Given the description of an element on the screen output the (x, y) to click on. 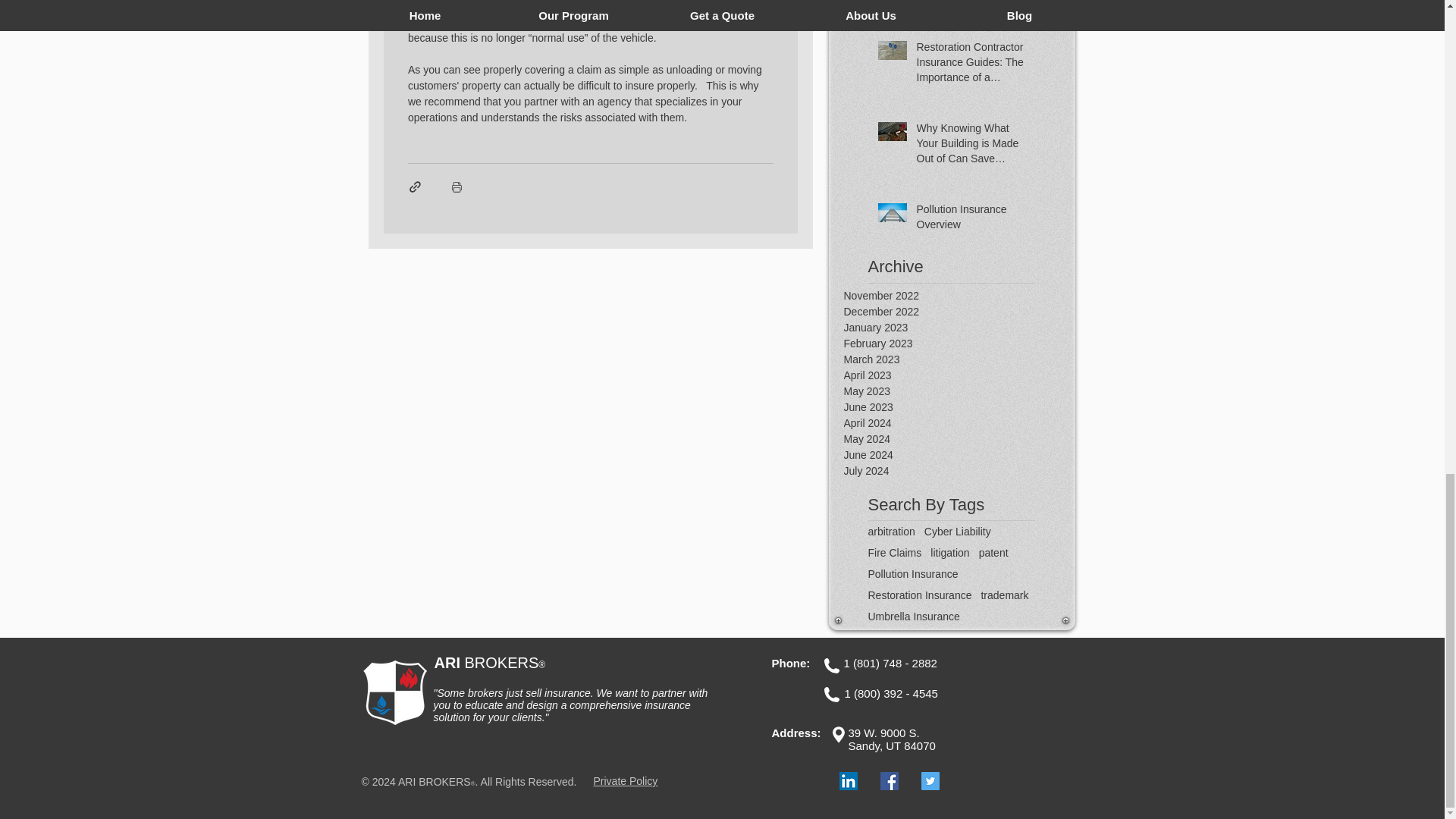
December 2022 (958, 311)
Fire Claims (894, 552)
March 2023 (958, 359)
February 2023 (958, 343)
May 2023 (958, 391)
November 2022 (958, 295)
Cyber Liability (957, 531)
Pollution Insurance Overview (970, 220)
May 2024 (958, 439)
April 2023 (958, 375)
January 2023 (958, 327)
June 2024 (958, 455)
